Given the description of an element on the screen output the (x, y) to click on. 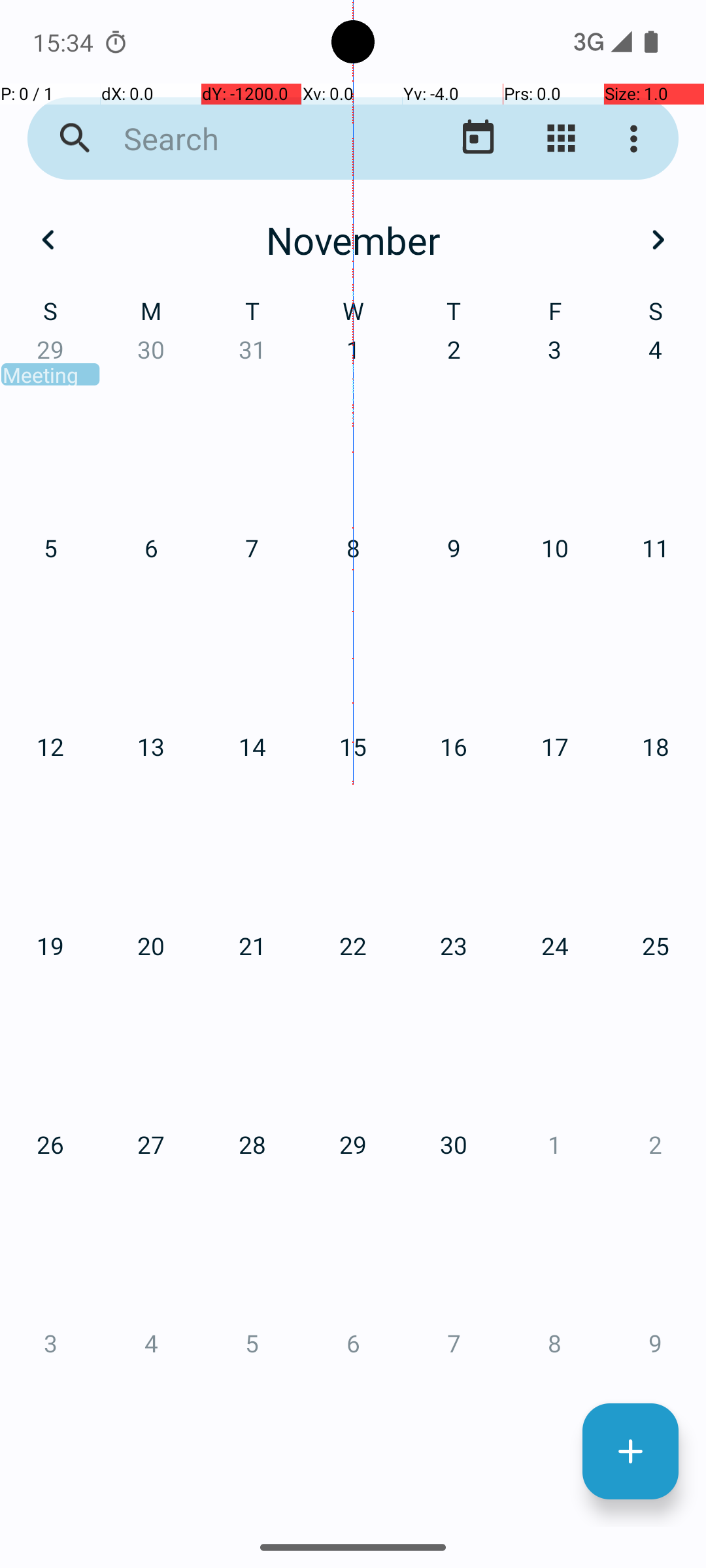
November Element type: android.widget.TextView (352, 239)
